Given the description of an element on the screen output the (x, y) to click on. 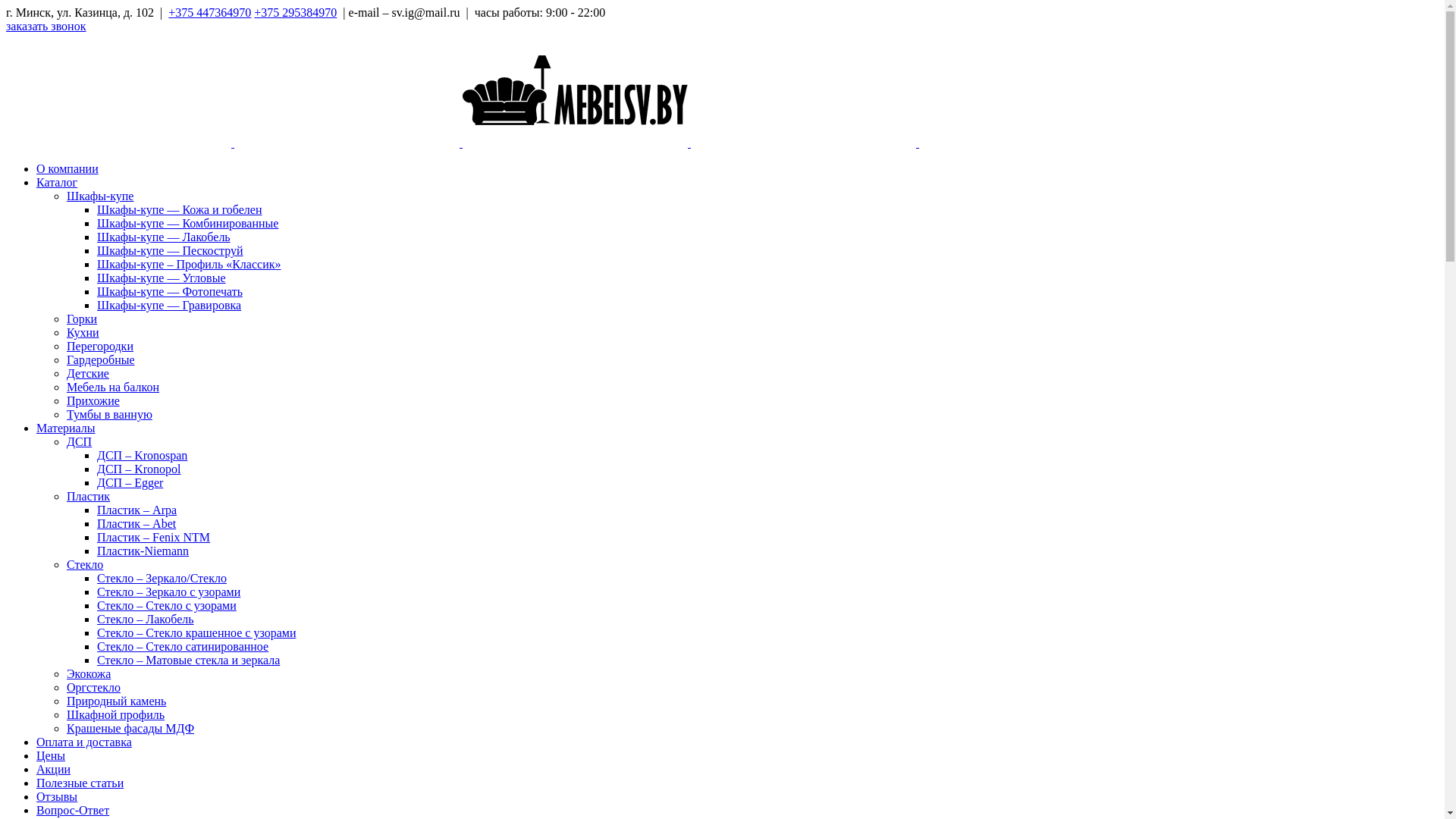
+375 447364970 Element type: text (209, 12)
+375 295384970 Element type: text (295, 12)
